Given the description of an element on the screen output the (x, y) to click on. 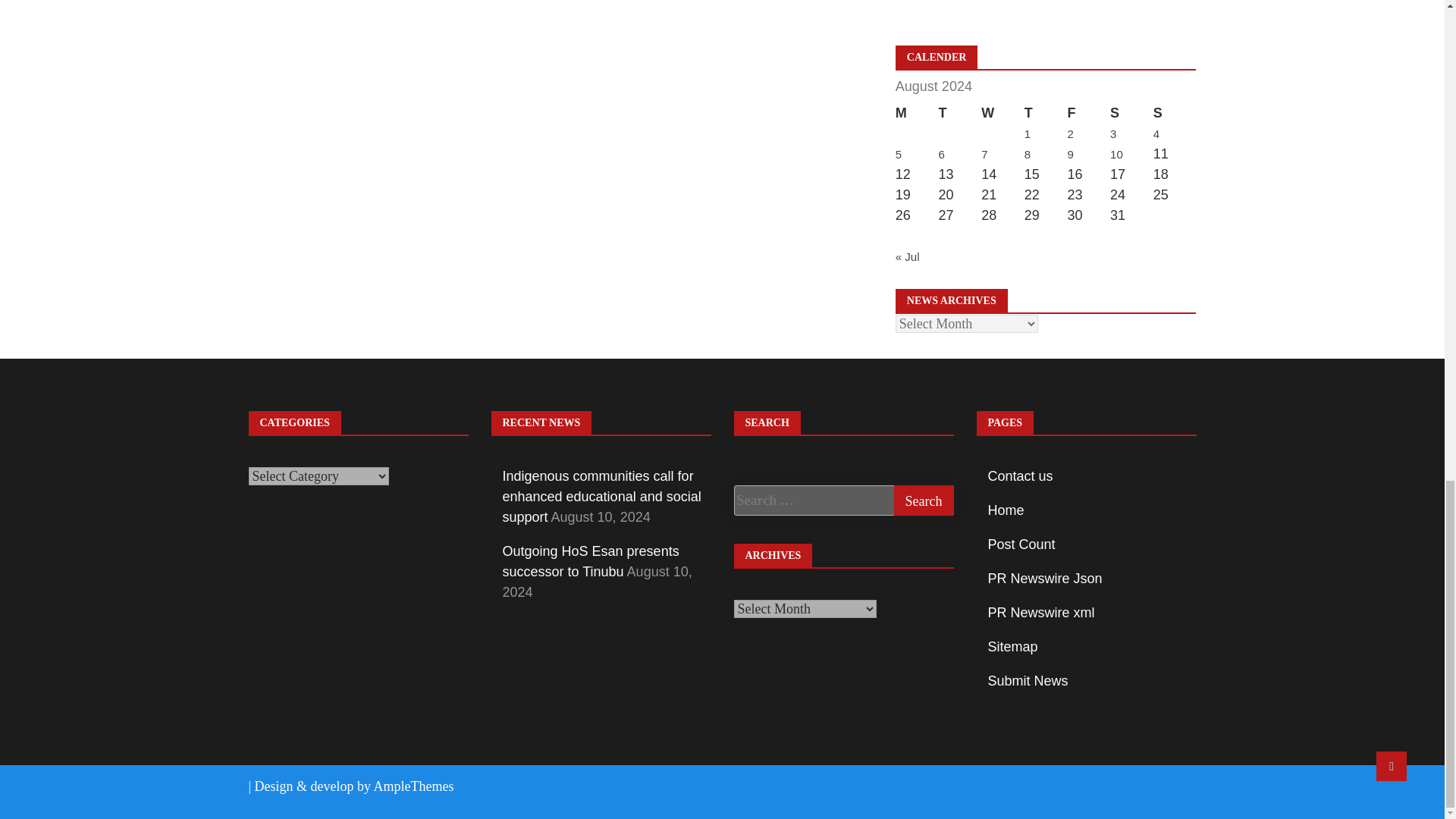
Search (923, 500)
Friday (1088, 113)
Sunday (1174, 113)
Saturday (1131, 113)
Thursday (1046, 113)
Tuesday (959, 113)
Monday (917, 113)
Wednesday (1003, 113)
Search (923, 500)
